Given the description of an element on the screen output the (x, y) to click on. 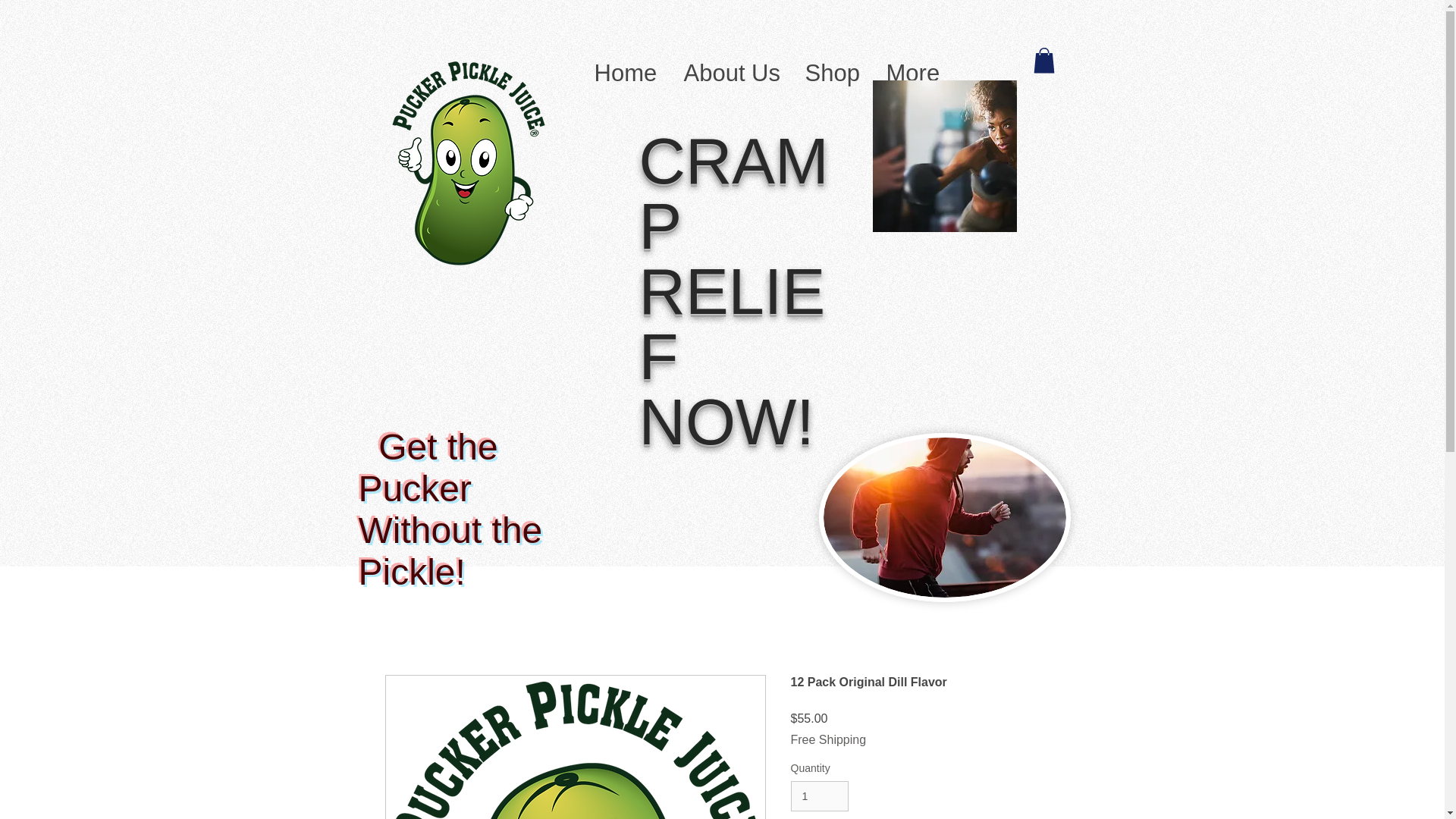
Shop (830, 68)
Home (623, 68)
About Us (729, 68)
1 (818, 796)
Free Shipping (828, 739)
